Given the description of an element on the screen output the (x, y) to click on. 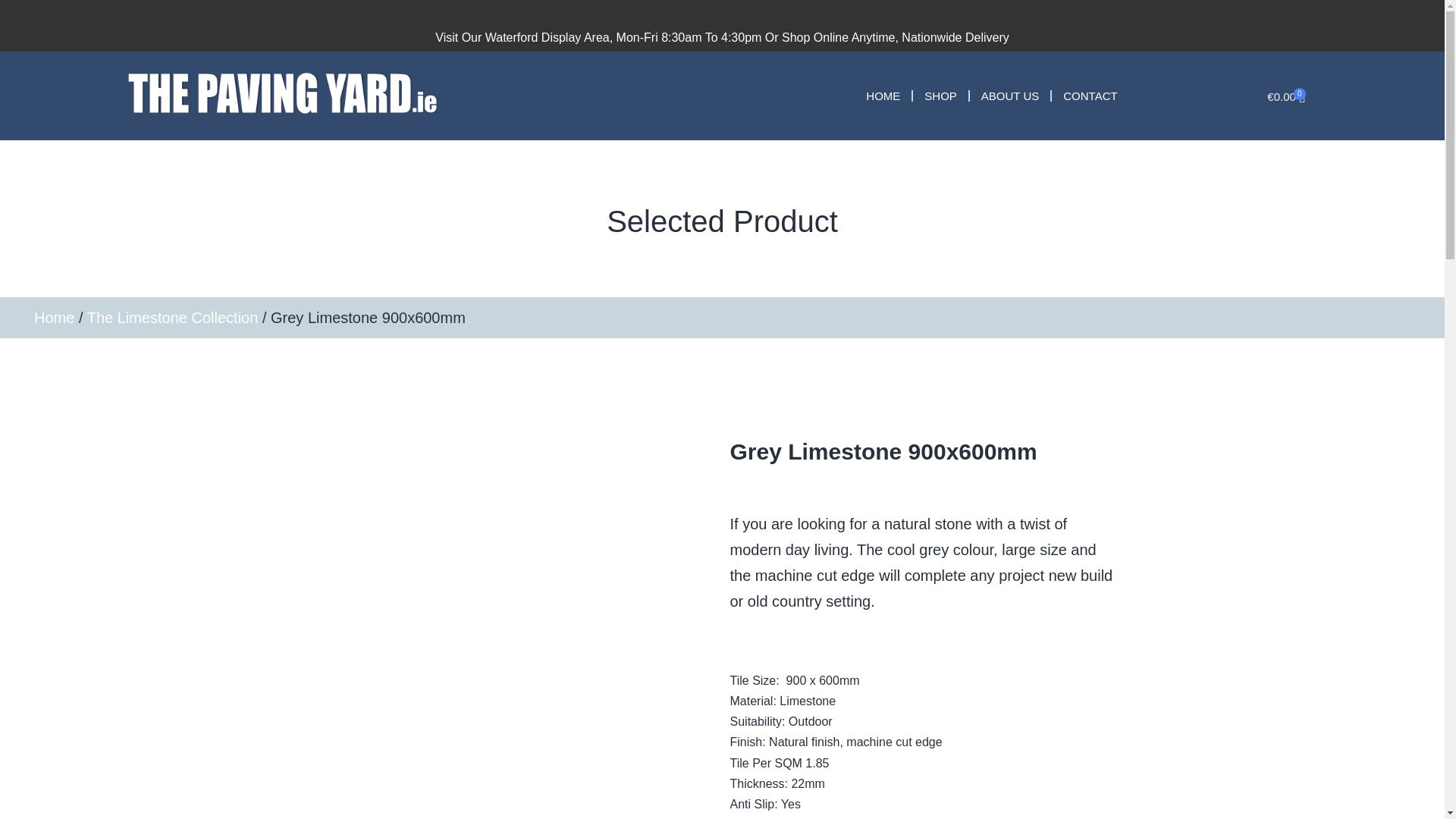
SHOP (940, 95)
HOME (882, 95)
Home (53, 317)
CONTACT (1089, 95)
The Limestone Collection (173, 317)
ABOUT US (1010, 95)
